Given the description of an element on the screen output the (x, y) to click on. 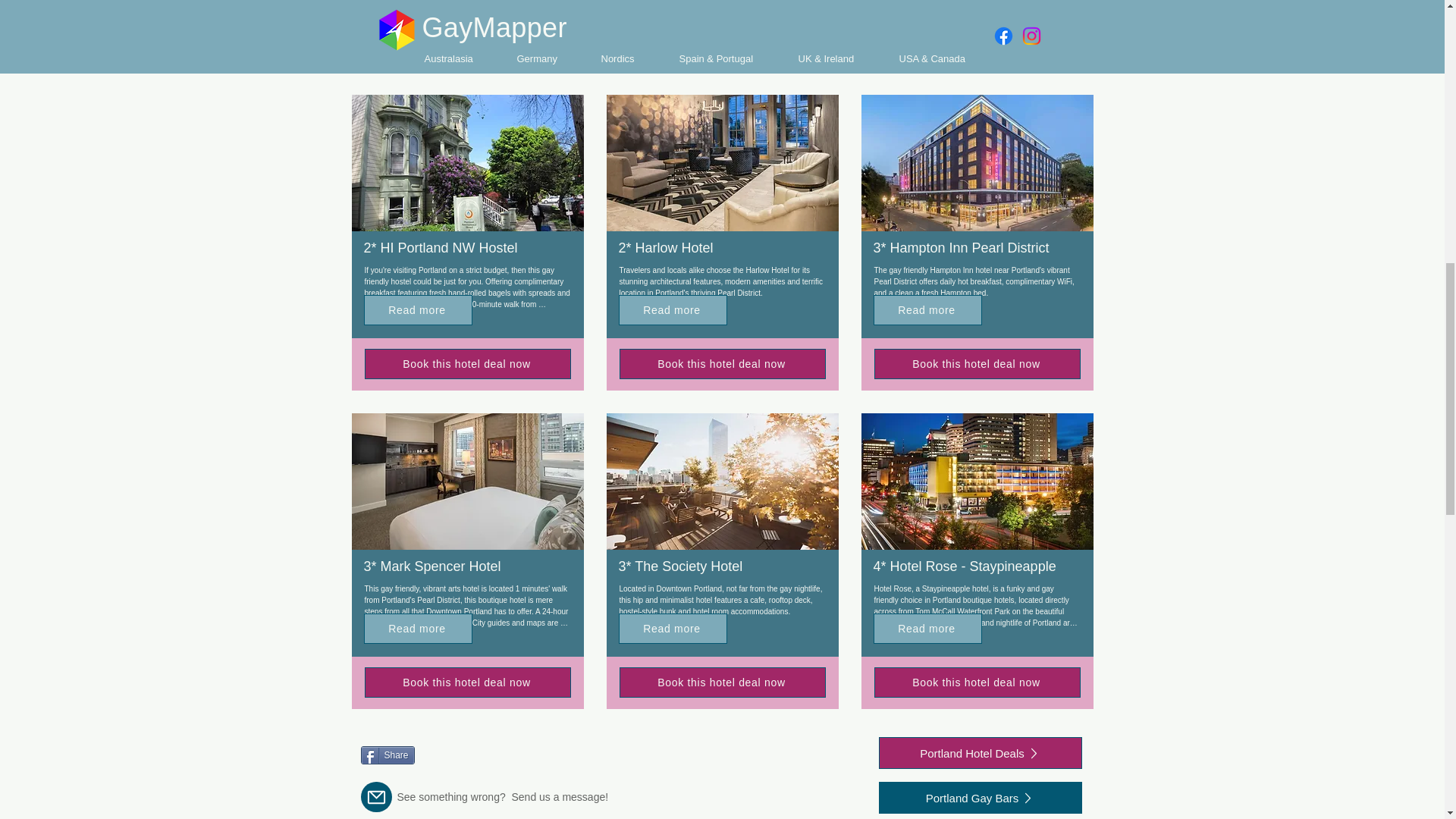
hampton-inn-pearl-district-gay-hotel-portland-gaymapper.jpg (977, 162)
the-mark-spencer-hotel-gay-hotel-portland-gaymapper.jpg (467, 481)
harlow-hotel-gay-hotel-portland-gaymapper.jpg (722, 162)
the-society-hotel-gay-hotel-portland-gaymapper.jpg (722, 481)
Share (387, 755)
northwest-portland-hostel-gay-hotel-portland-gaymapper.jpg (467, 162)
hotel-rose-staypineapple-gay-hotel-portland-gaymapper.jpg (977, 481)
